Given the description of an element on the screen output the (x, y) to click on. 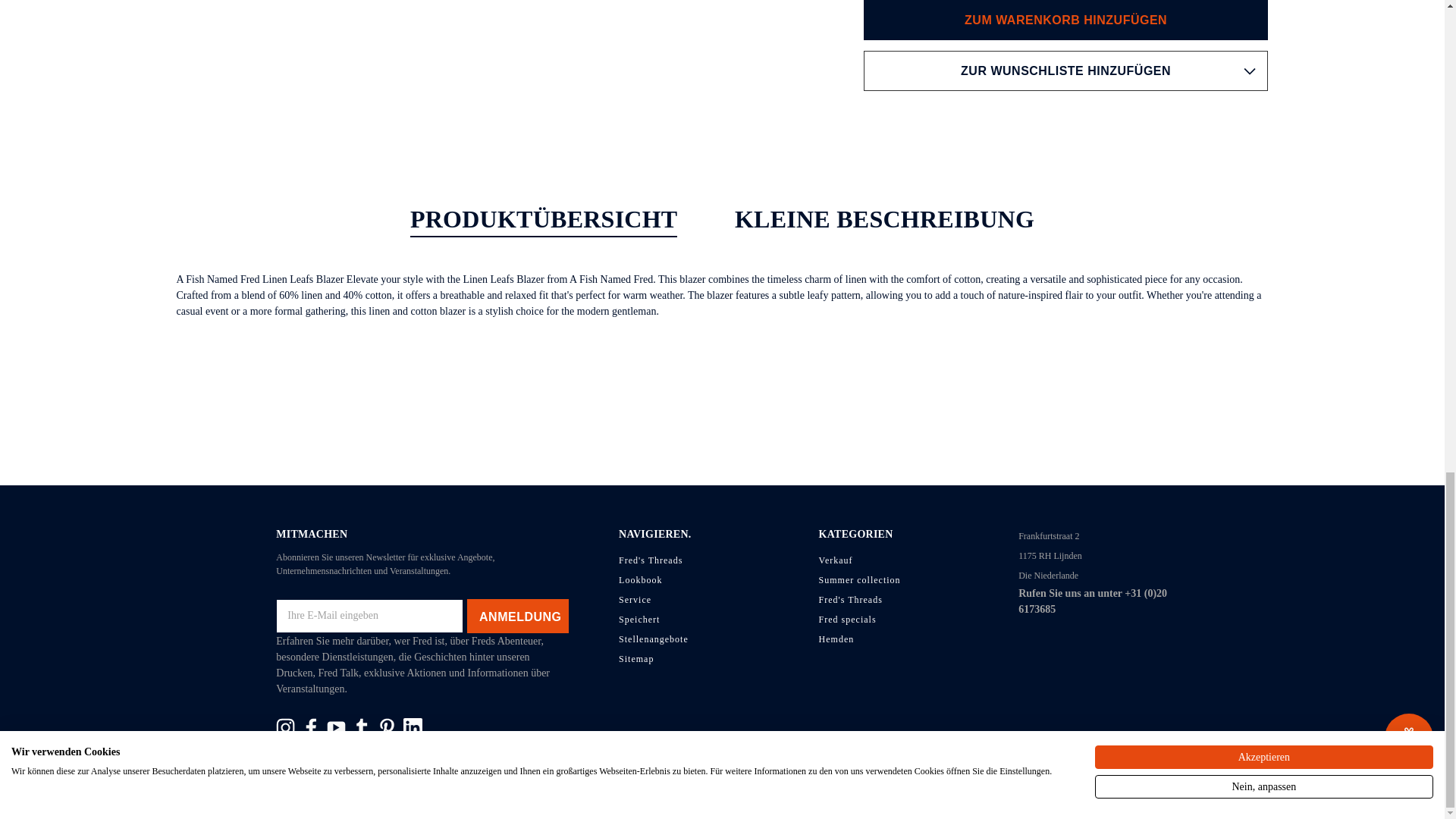
Anmeldung (518, 615)
